Given the description of an element on the screen output the (x, y) to click on. 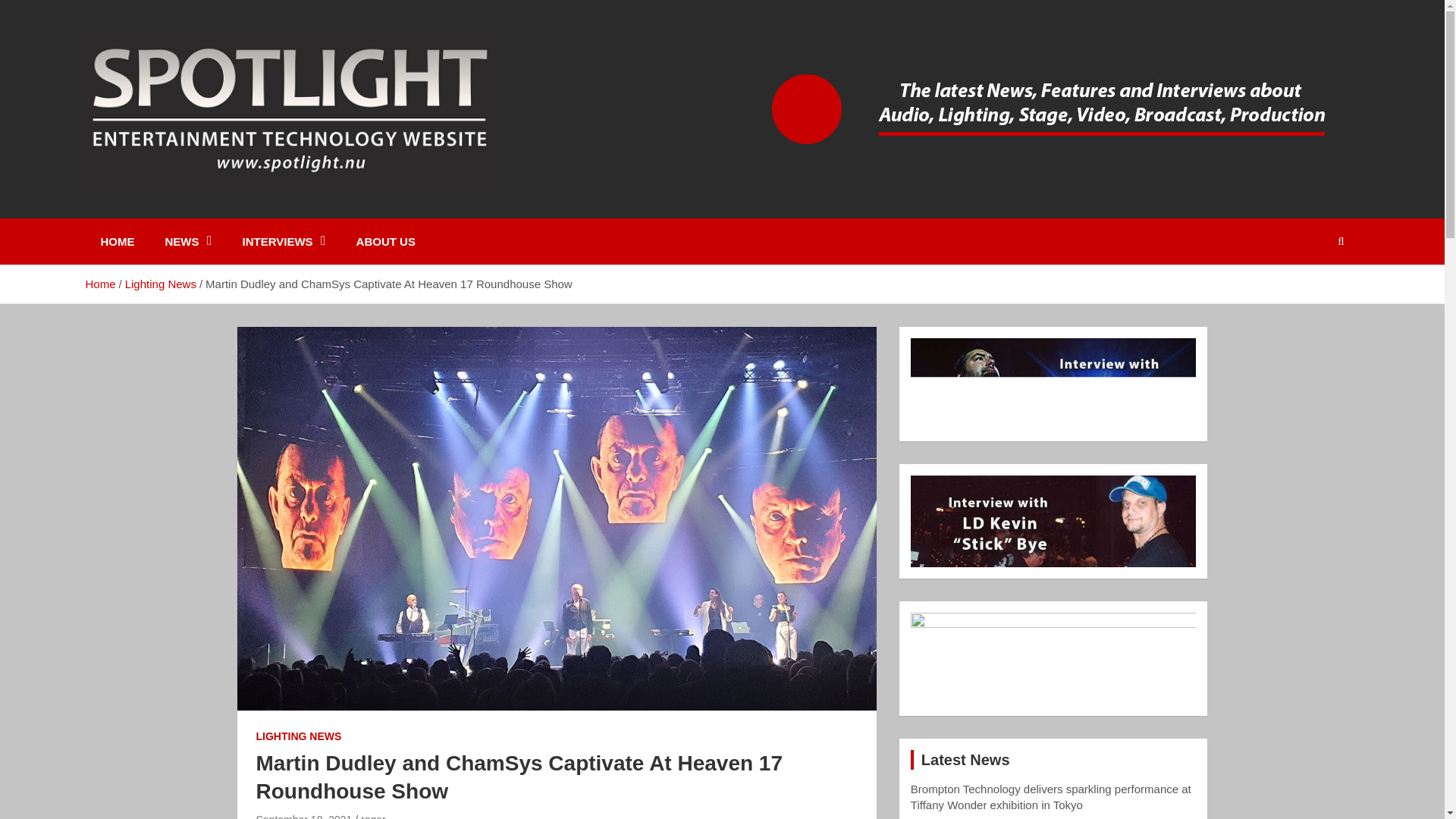
INTERVIEWS (283, 241)
Home (99, 283)
NEWS (188, 241)
Lighting News (160, 283)
roger (373, 816)
LIGHTING NEWS (299, 736)
September 18, 2021 (304, 816)
ABOUT US (385, 241)
HOME (116, 241)
